Given the description of an element on the screen output the (x, y) to click on. 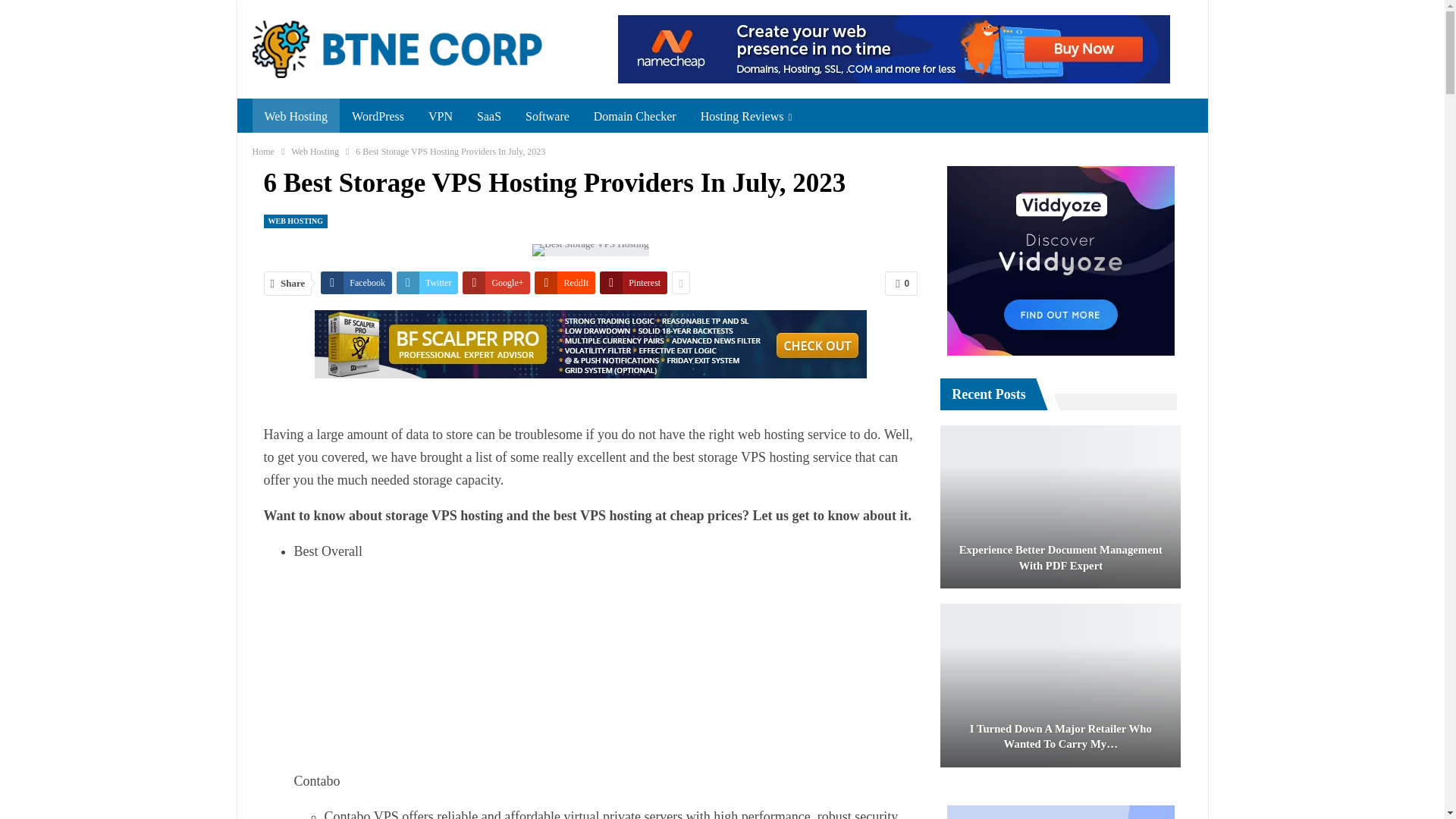
ReddIt (564, 282)
Pinterest (632, 282)
Experience Better Document Management with PDF Expert (1060, 507)
Twitter (427, 282)
0 (901, 283)
Web Hosting (295, 116)
Web Hosting (315, 151)
WordPress (377, 116)
Software (546, 116)
Hosting Reviews (746, 116)
SaaS (488, 116)
WEB HOSTING (296, 220)
Facebook (355, 282)
Domain Checker (634, 116)
Home (262, 151)
